Given the description of an element on the screen output the (x, y) to click on. 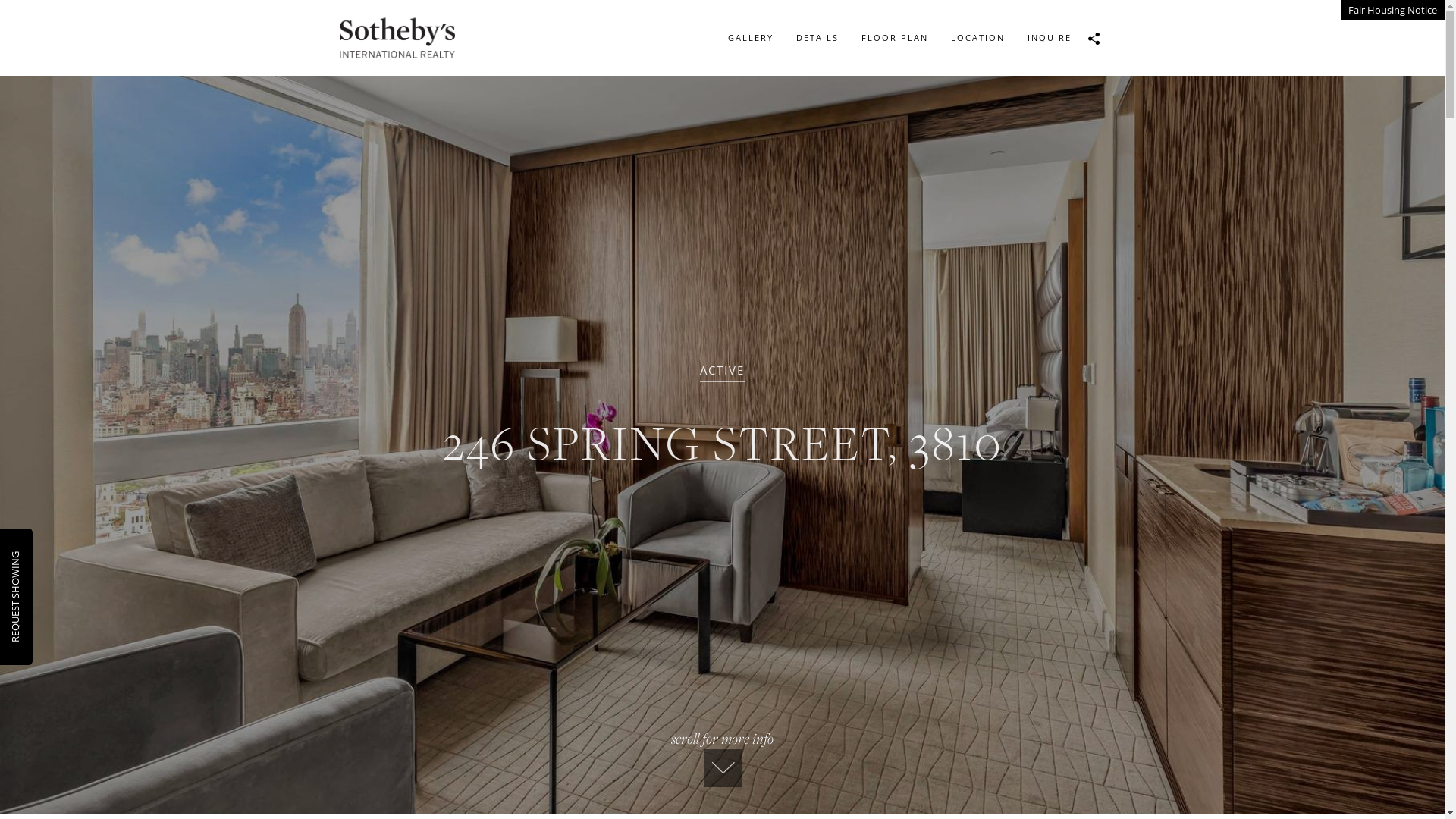
REQUEST SHOWING Element type: text (53, 557)
LOCATION Element type: text (976, 37)
FLOOR PLAN Element type: text (893, 37)
DETAILS Element type: text (816, 37)
INQUIRE Element type: text (1049, 37)
Fair Housing Notice Element type: text (1392, 9)
GALLERY Element type: text (749, 37)
scroll for more info Element type: text (721, 757)
